Given the description of an element on the screen output the (x, y) to click on. 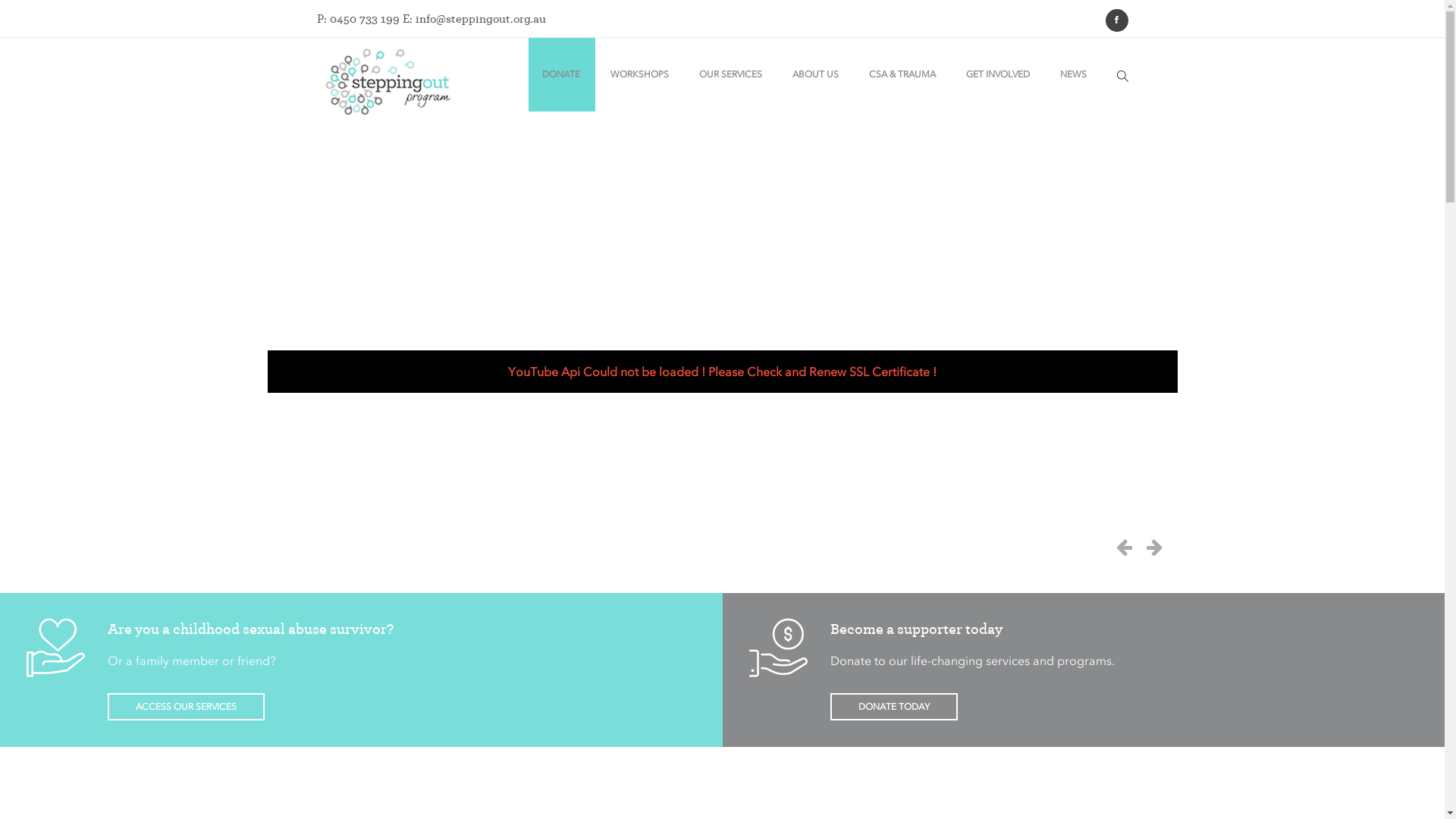
CSA & TRAUMA Element type: text (902, 74)
NEWS Element type: text (1073, 74)
Stepping Out - Stepping Out Program Element type: hover (391, 81)
WORKSHOPS Element type: text (638, 74)
OUR SERVICES Element type: text (730, 74)
DONATE TODAY Element type: text (893, 706)
ABOUT US Element type: text (814, 74)
GET INVOLVED Element type: text (997, 74)
ACCESS OUR SERVICES Element type: text (185, 706)
DONATE Element type: text (560, 74)
